Given the description of an element on the screen output the (x, y) to click on. 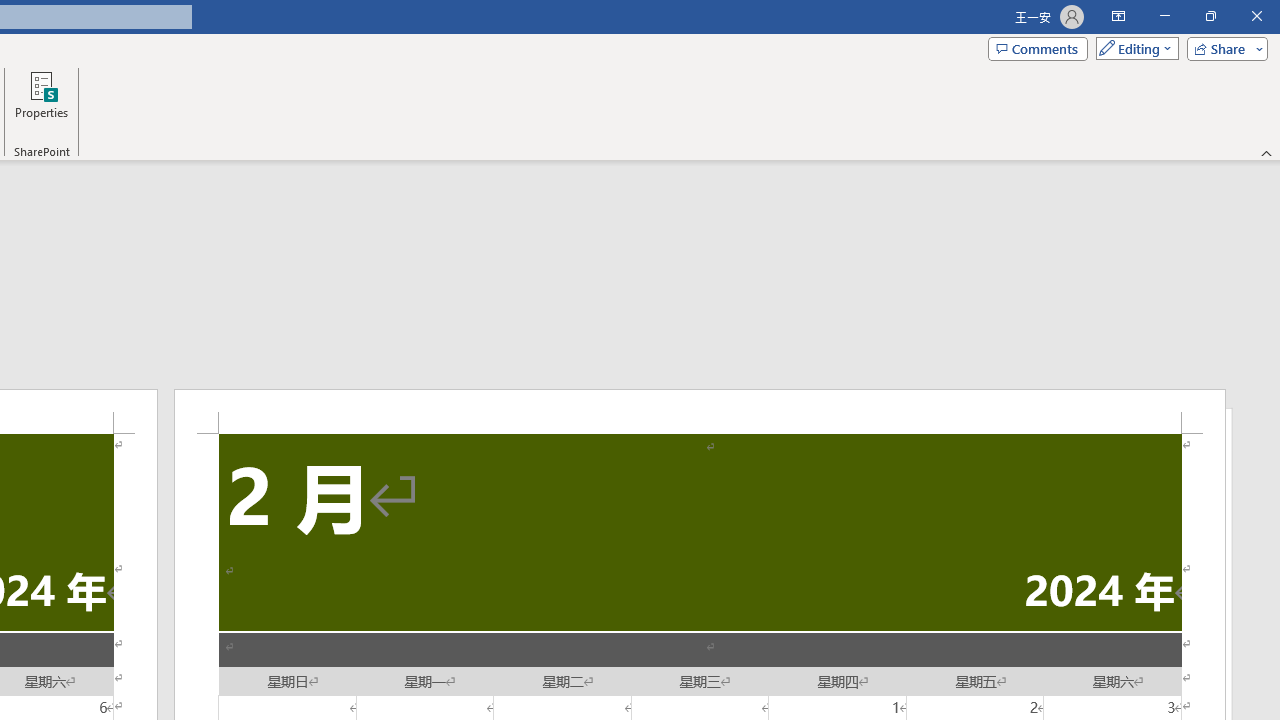
Minimize (1164, 16)
Properties (41, 102)
Restore Down (1210, 16)
Close (1256, 16)
Share (1223, 48)
Header -Section 2- (700, 411)
Collapse the Ribbon (1267, 152)
Comments (1038, 48)
Mode (1133, 47)
Ribbon Display Options (1118, 16)
